Given the description of an element on the screen output the (x, y) to click on. 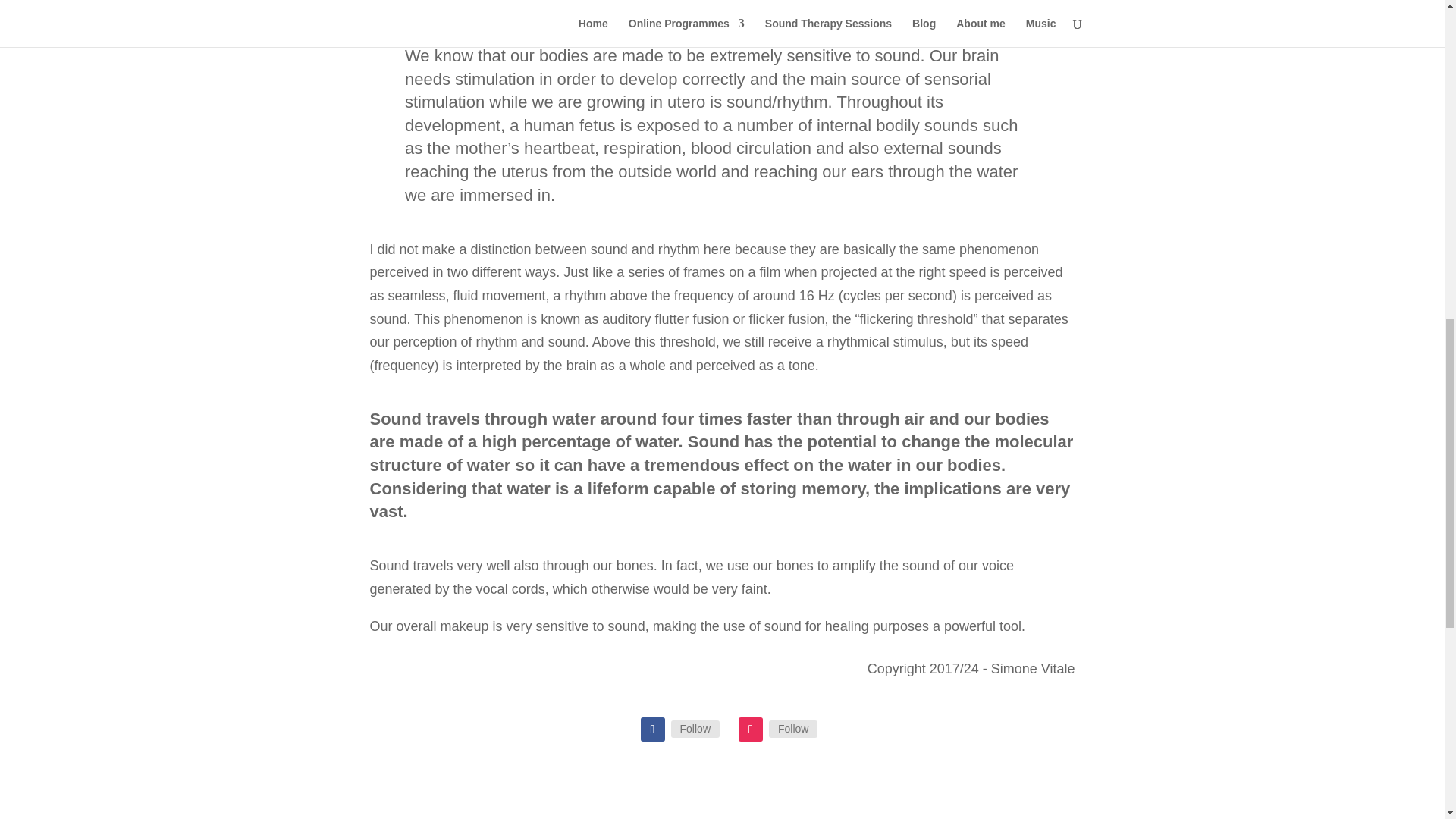
Follow (695, 728)
Follow (792, 728)
Follow on Facebook (652, 729)
Follow on Instagram (750, 729)
Facebook (695, 728)
Instagram (792, 728)
